Given the description of an element on the screen output the (x, y) to click on. 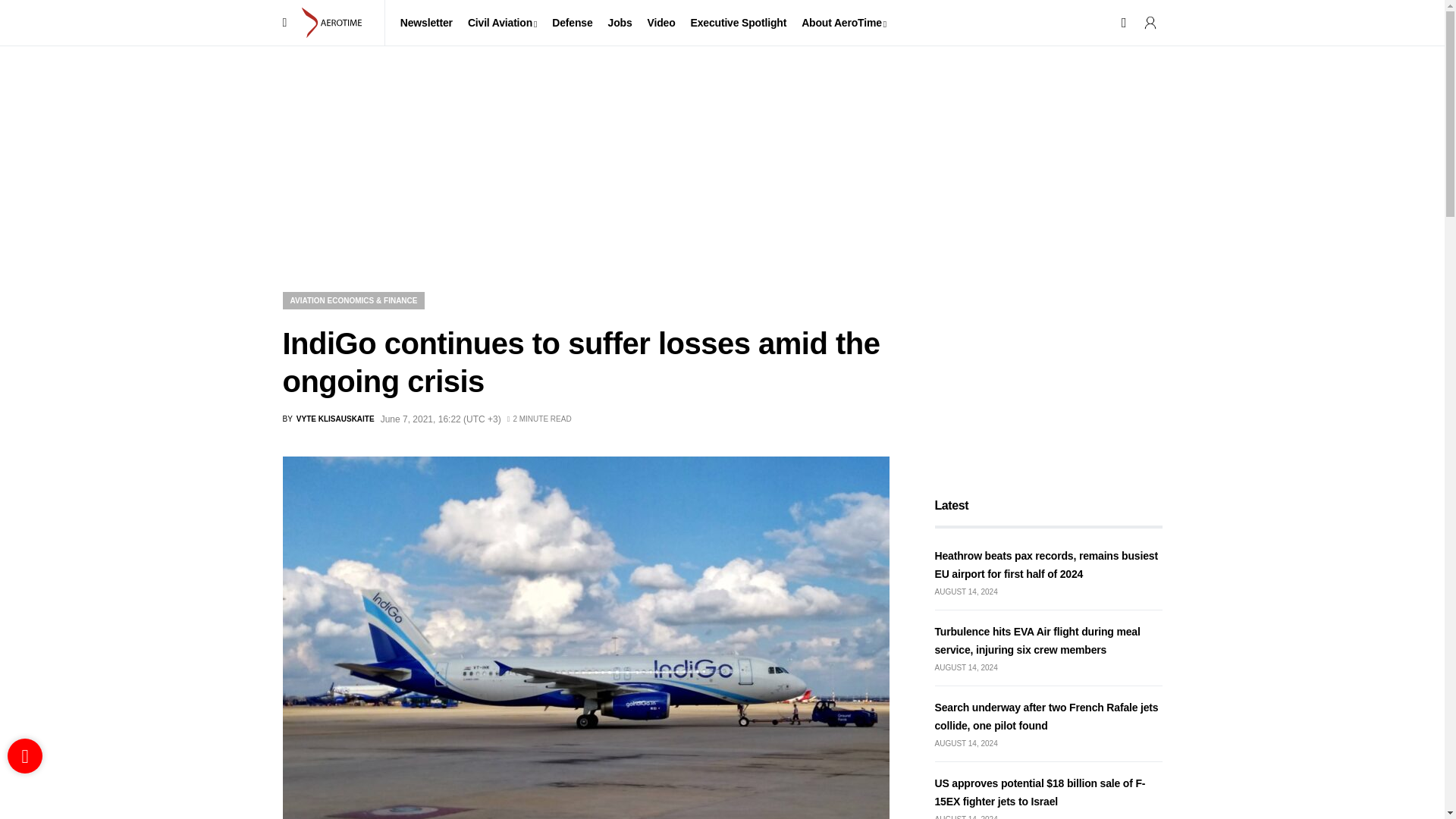
Newsletter (426, 22)
Civil Aviation (502, 22)
View all posts by Vyte Klisauskaite (328, 419)
